Given the description of an element on the screen output the (x, y) to click on. 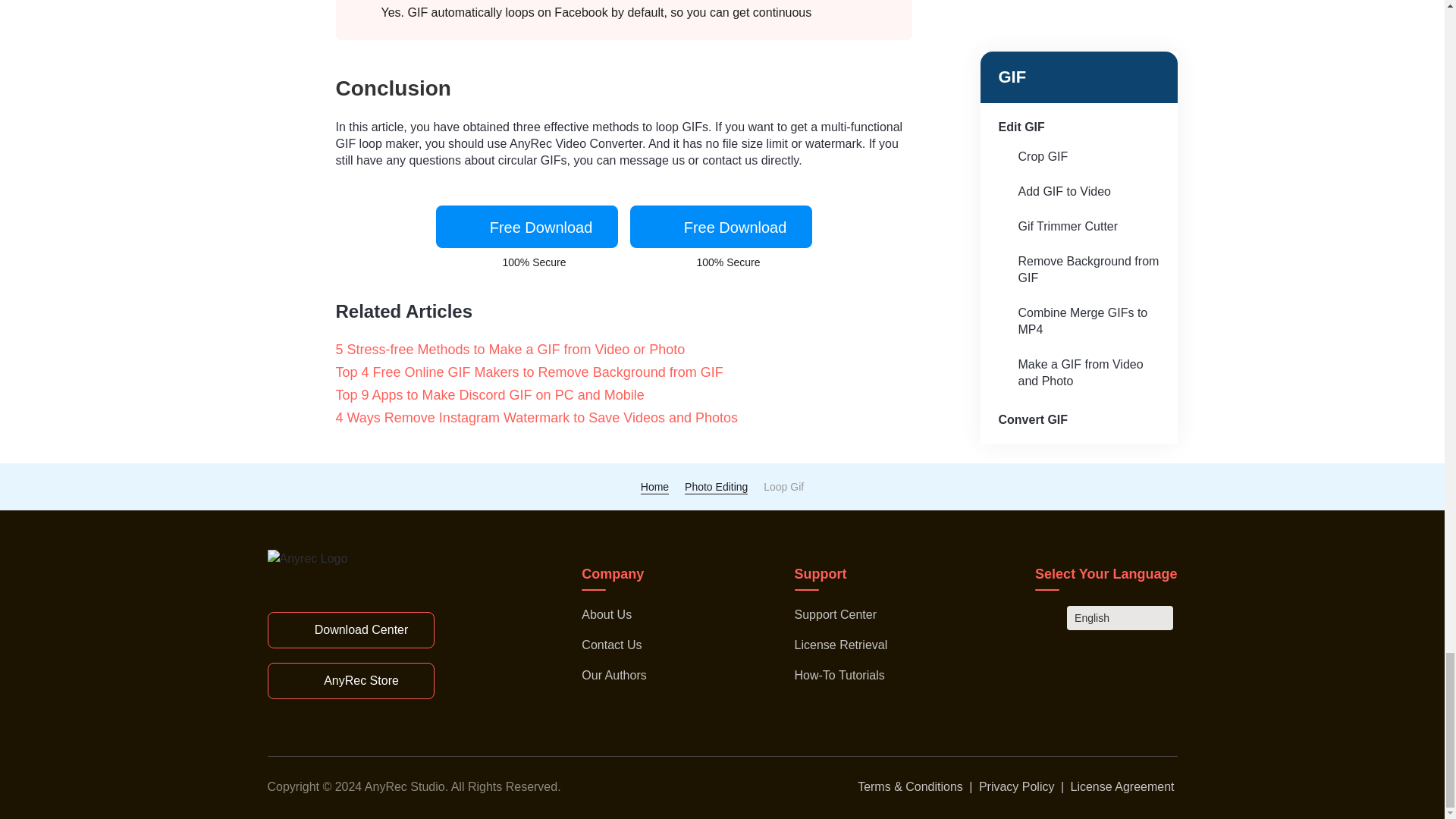
Download Center (349, 629)
Support Center (835, 614)
Contact Us (611, 644)
Free Download (526, 226)
Top 4 Free Online GIF Makers to Remove Background from GIF (543, 372)
Our Authors (613, 675)
About Us (605, 614)
Free Download (719, 226)
4 Ways Remove Instagram Watermark to Save Videos and Photos (551, 417)
Top 9 Apps to Make Discord GIF on PC and Mobile (504, 394)
